Given the description of an element on the screen output the (x, y) to click on. 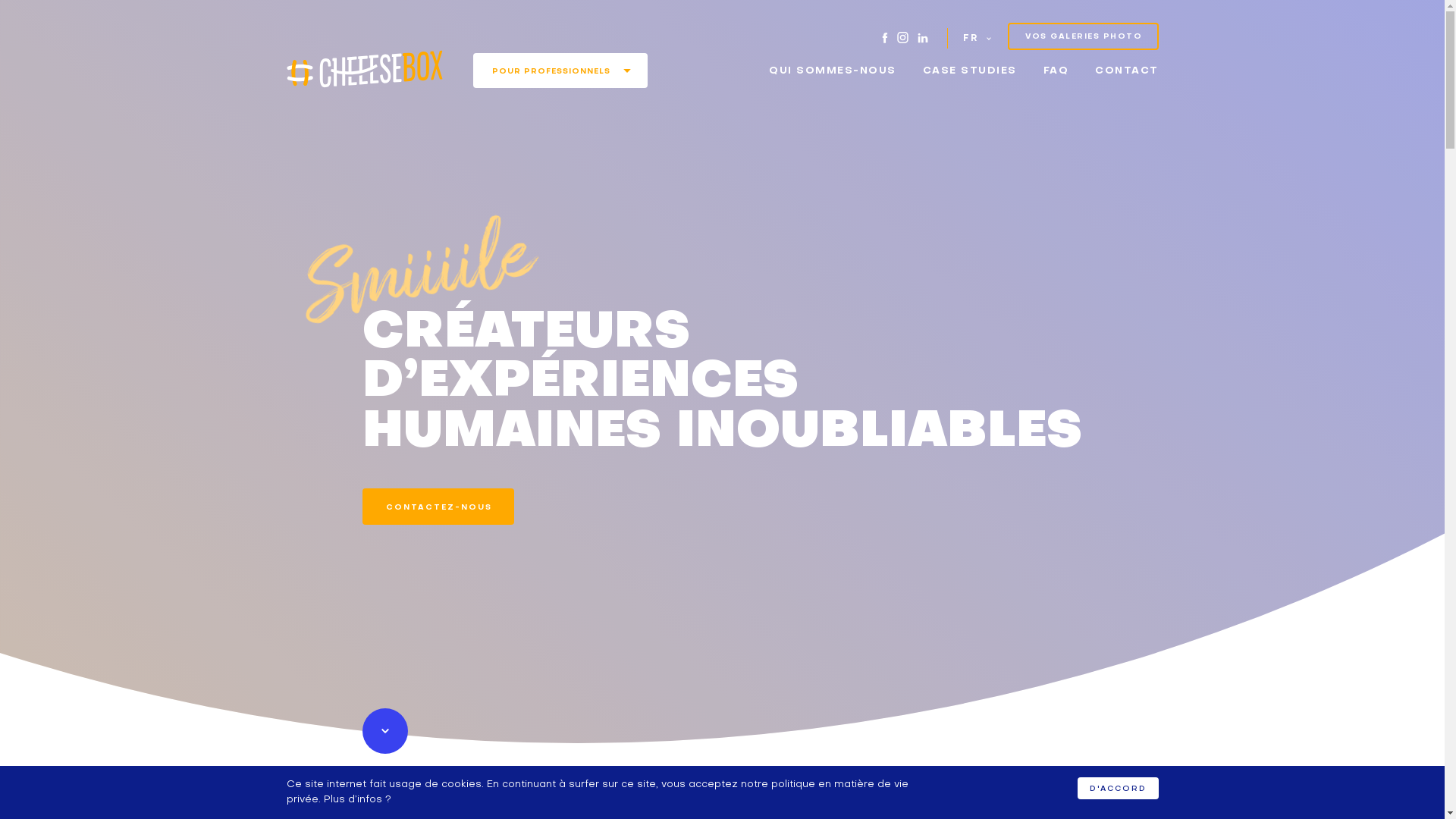
FR Element type: text (976, 38)
LinkedIn Element type: hover (922, 36)
CONTACT Element type: text (1126, 70)
POUR PROFESSIONNELS Element type: text (560, 70)
D'ACCORD Element type: text (1116, 788)
CASE STUDIES Element type: text (968, 70)
Scroll down" Element type: text (384, 774)
VOS GALERIES PHOTO Element type: text (1082, 36)
CONTACTEZ-NOUS Element type: text (438, 514)
QUI SOMMES-NOUS Element type: text (832, 70)
Facebook Element type: hover (884, 36)
FAQ Element type: text (1055, 70)
Instagram Element type: hover (902, 36)
POUR PARTICULIERS Element type: text (560, 102)
CheeeseBOX Element type: hover (364, 68)
